Given the description of an element on the screen output the (x, y) to click on. 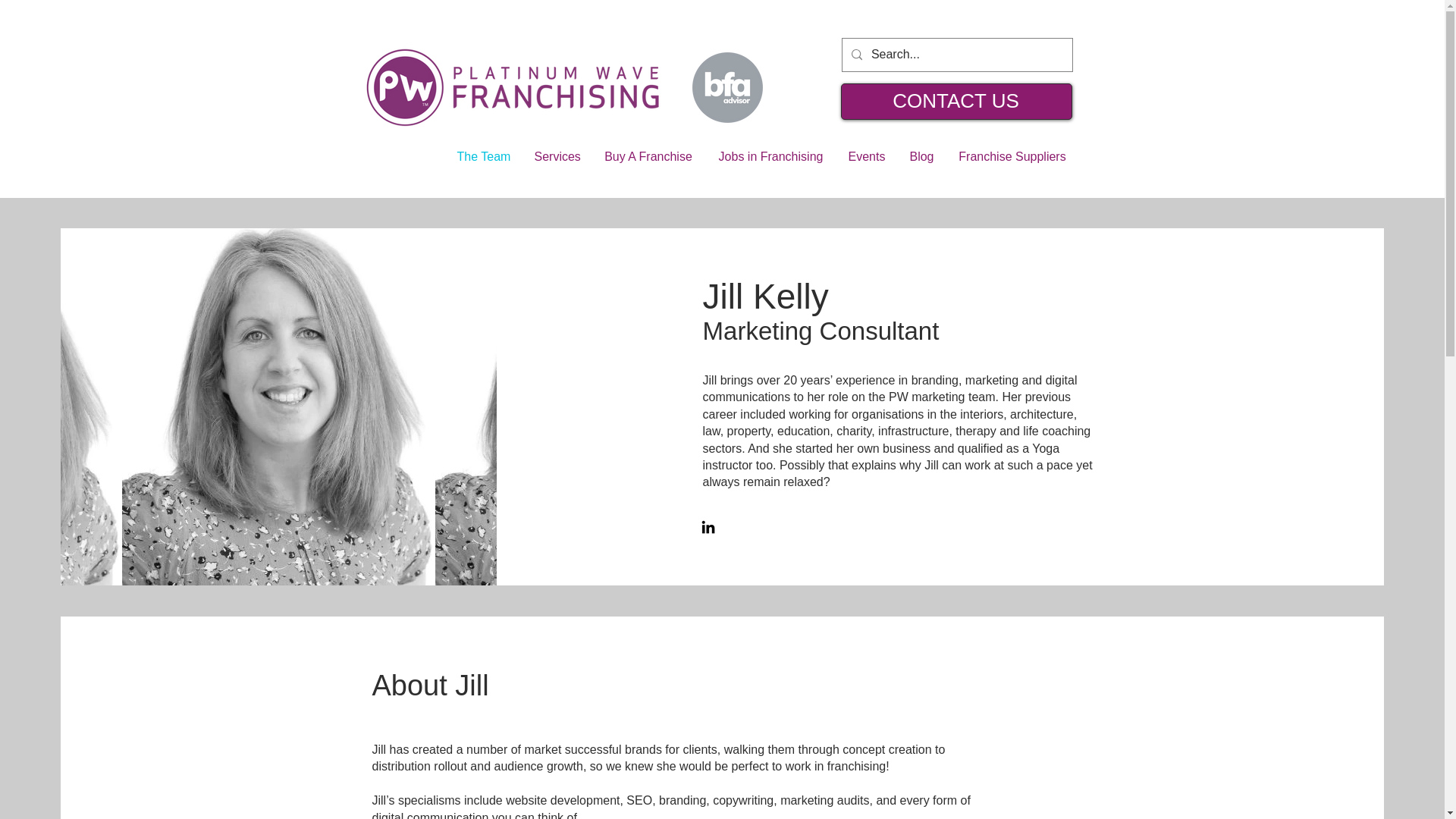
Franchise Suppliers (1012, 156)
The Team (482, 156)
Events (865, 156)
Blog (920, 156)
Services (556, 156)
Buy A Franchise (647, 156)
CONTACT US (955, 100)
Jobs in Franchising (769, 156)
